Given the description of an element on the screen output the (x, y) to click on. 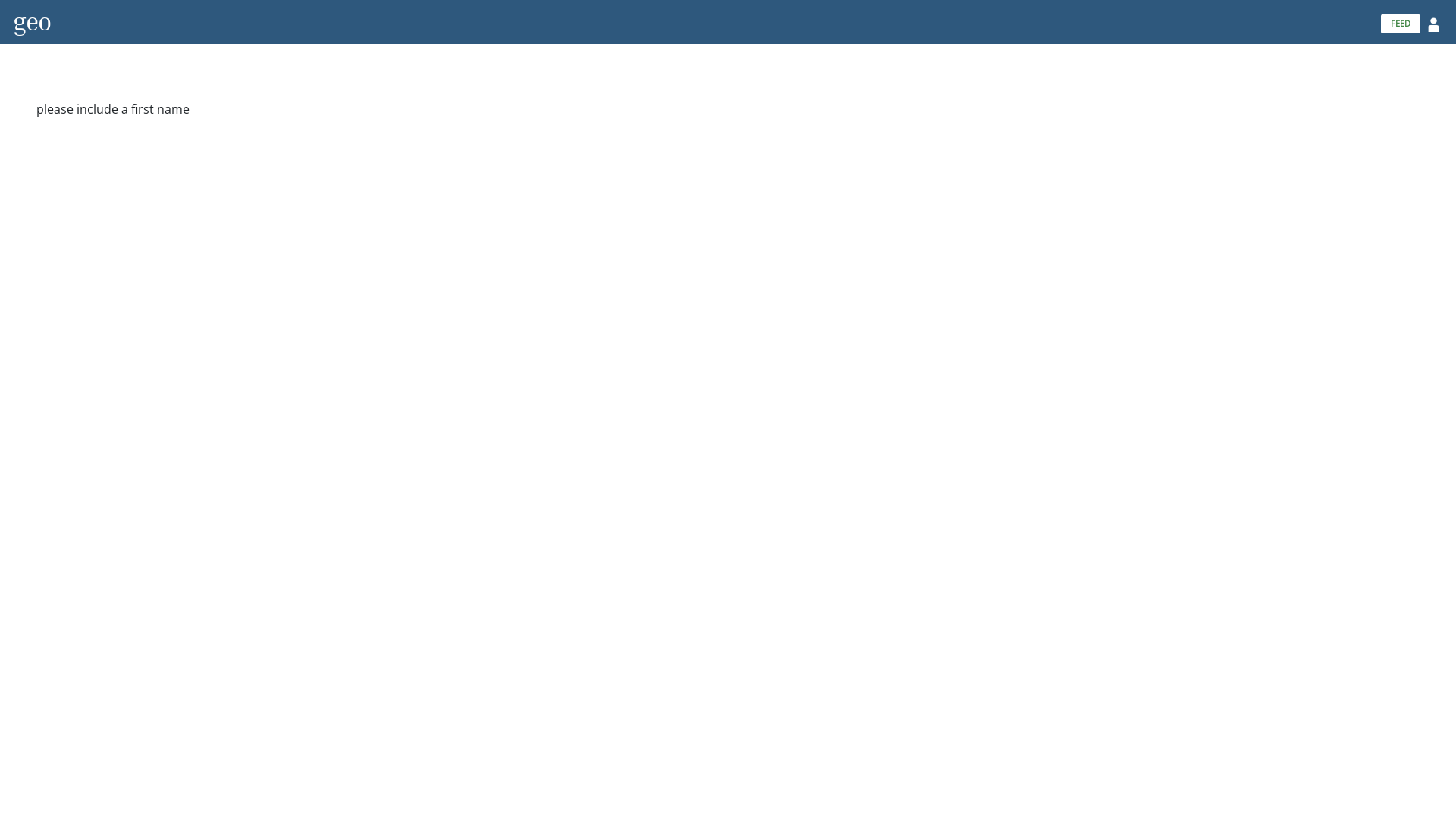
geo Element type: text (31, 21)
FEED Element type: text (1400, 23)
